Given the description of an element on the screen output the (x, y) to click on. 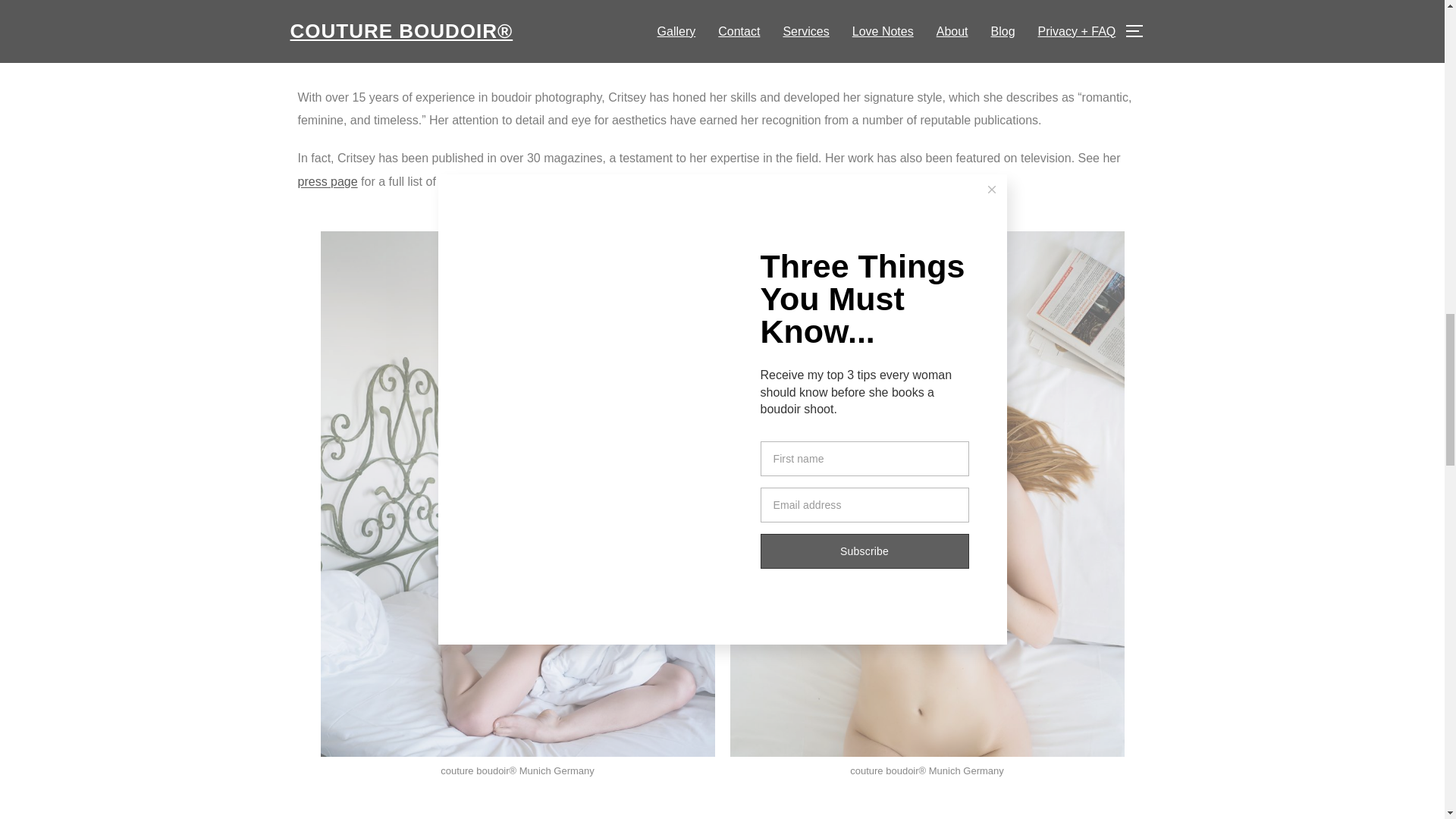
press page (326, 181)
